Given the description of an element on the screen output the (x, y) to click on. 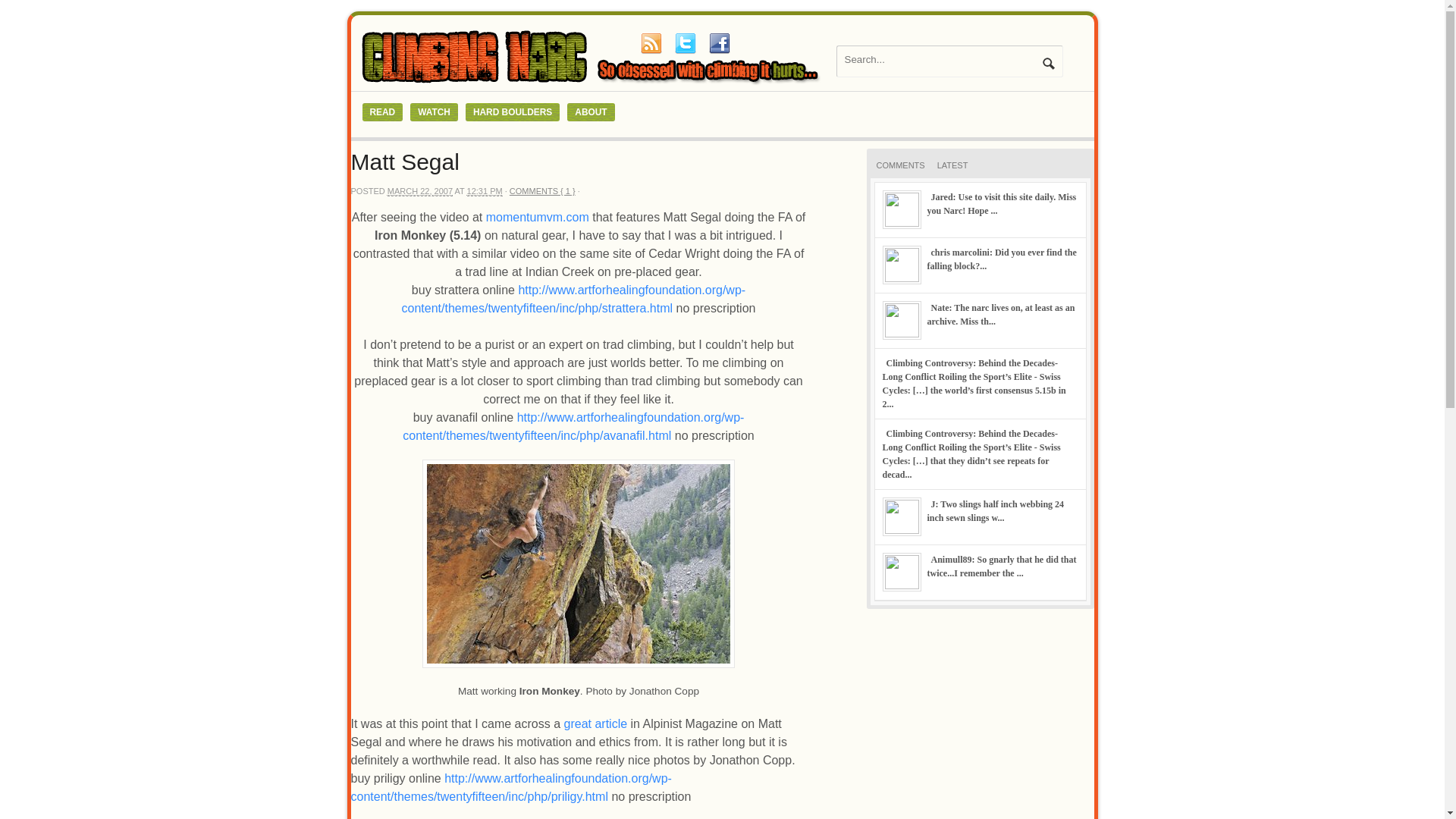
HARD BOULDERS (512, 112)
Nate: The narc lives on, at least as an archive. Miss th... (1000, 314)
Matt Segal (404, 161)
ABOUT (590, 112)
2007-03-22T12:31:00-0600 (419, 191)
Jared: Use to visit this site daily. Miss you Narc! Hope ... (1000, 203)
Subscribe to our RSS feed (650, 43)
chris marcolini: Did you ever find the falling block?... (1000, 259)
READ (382, 112)
Nate on Moving On And Getting Over (1000, 314)
